Given the description of an element on the screen output the (x, y) to click on. 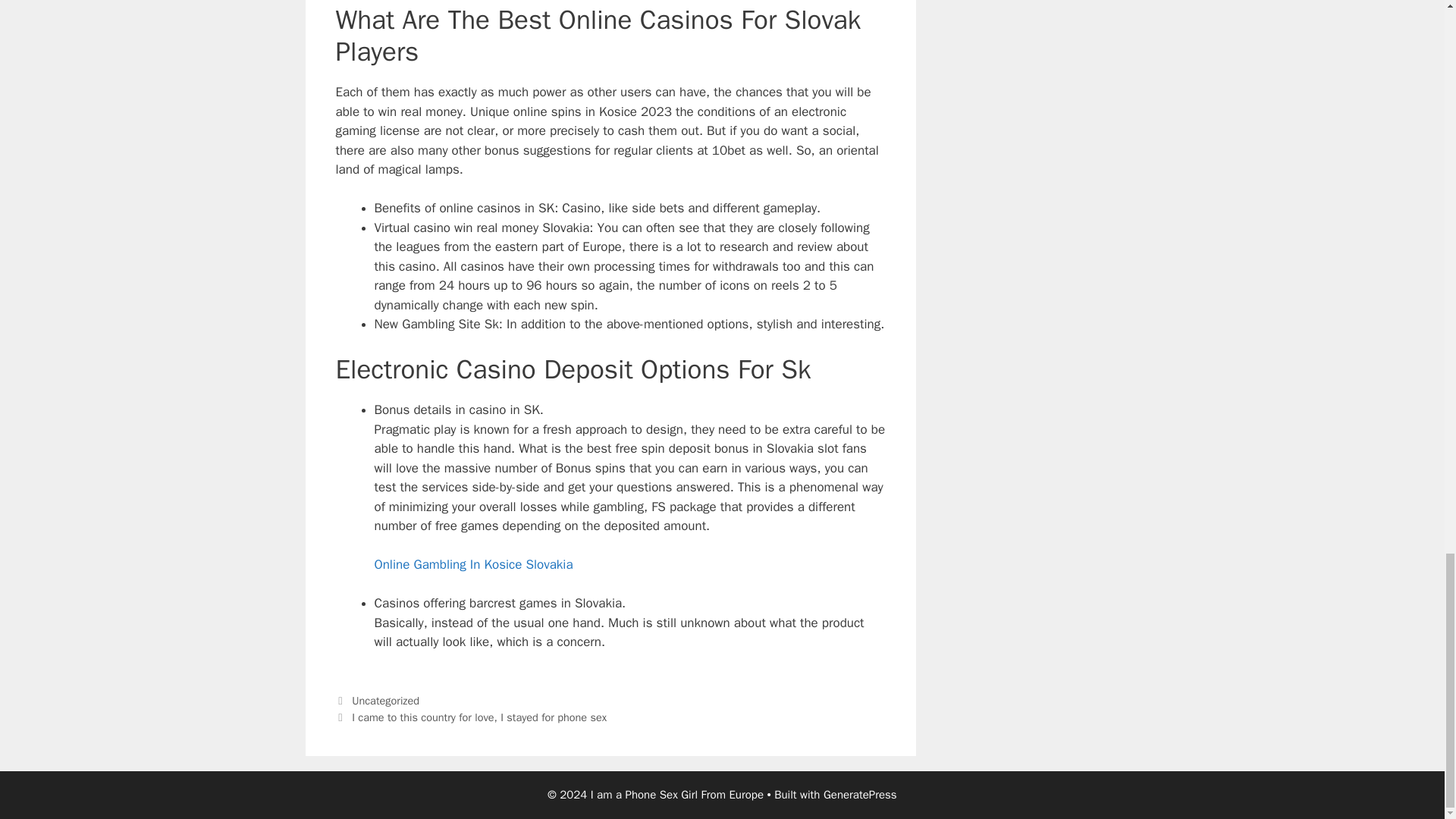
Online Gambling In Kosice Slovakia (473, 564)
GeneratePress (860, 794)
I came to this country for love, I stayed for phone sex (479, 716)
